Given the description of an element on the screen output the (x, y) to click on. 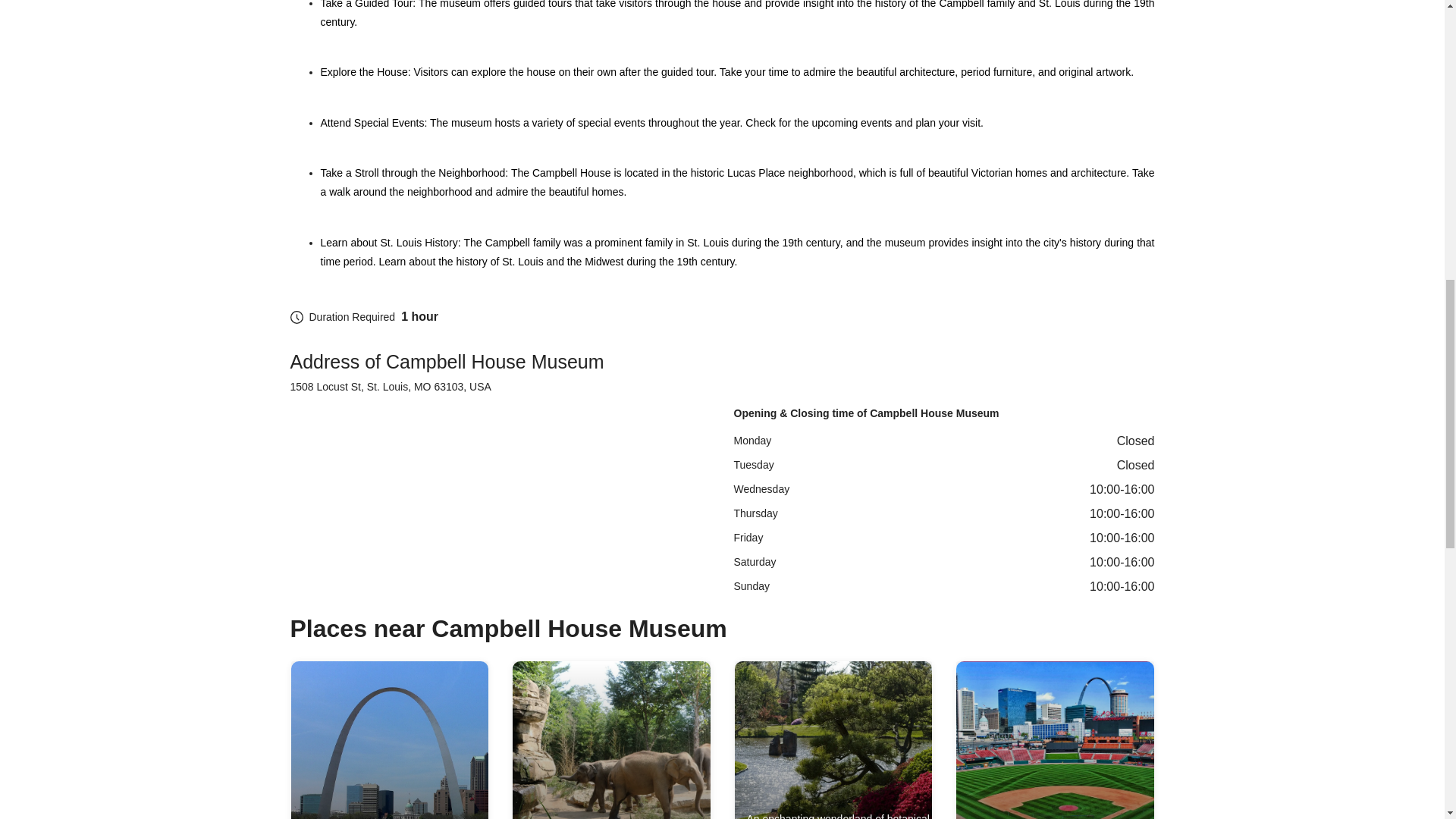
An enchanting wonderland of botanical treasures (832, 739)
Explore The Gateway Arch  (390, 739)
Explore Missouri Botanical Garden  (832, 739)
Explore Busch Stadium  (1055, 739)
A zoo like no other (611, 739)
America's favorite pastime. (1055, 739)
Explore St. Louis Zoo  (611, 739)
Elegant symbol of St. Louis (390, 739)
